Given the description of an element on the screen output the (x, y) to click on. 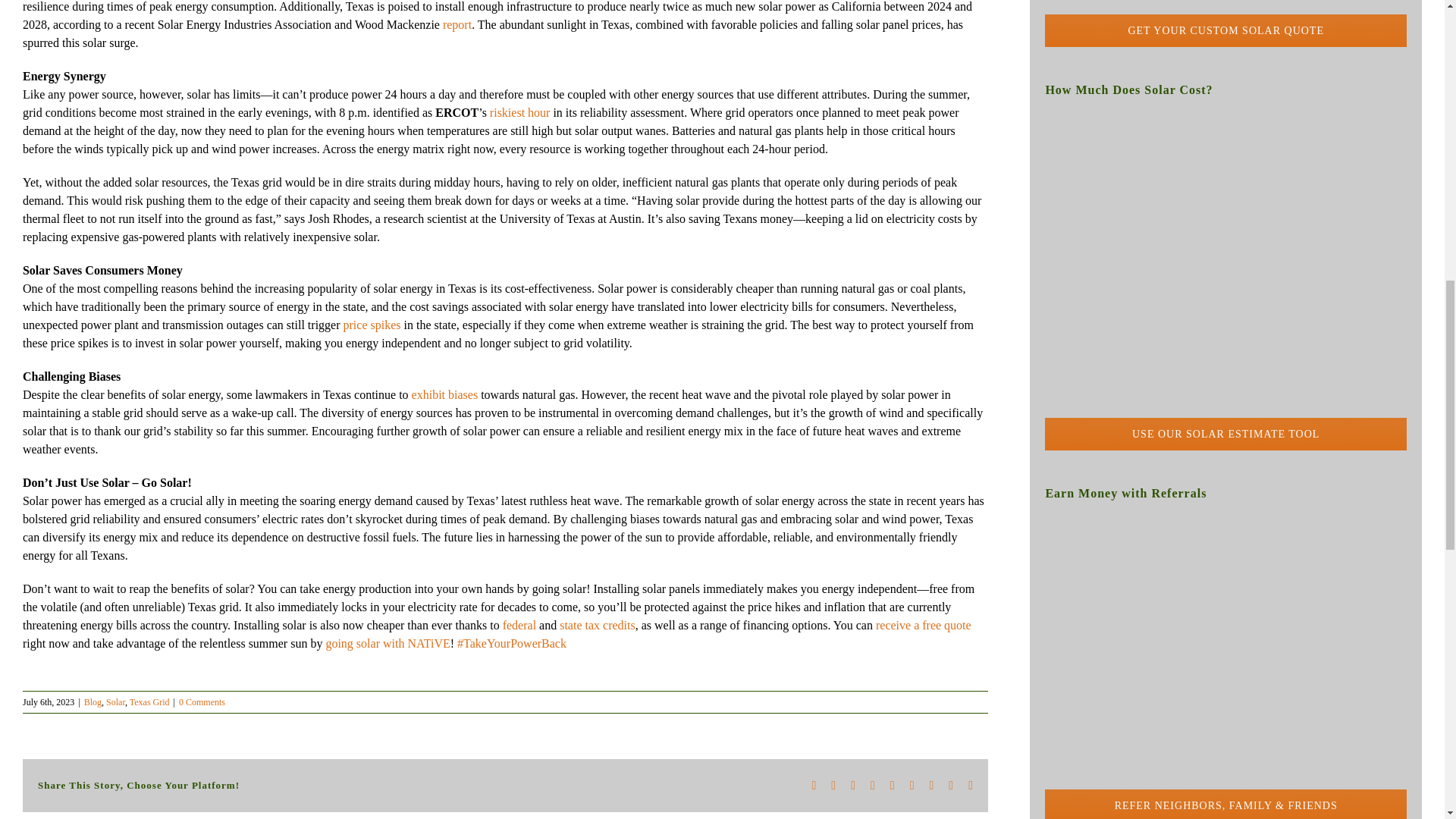
GET YOUR CUSTOM SOLAR QUOTE (1225, 22)
report (456, 24)
riskiest hour (519, 112)
price spikes (372, 324)
exhibit biases (445, 394)
federal (518, 625)
state tax credits (596, 625)
